Given the description of an element on the screen output the (x, y) to click on. 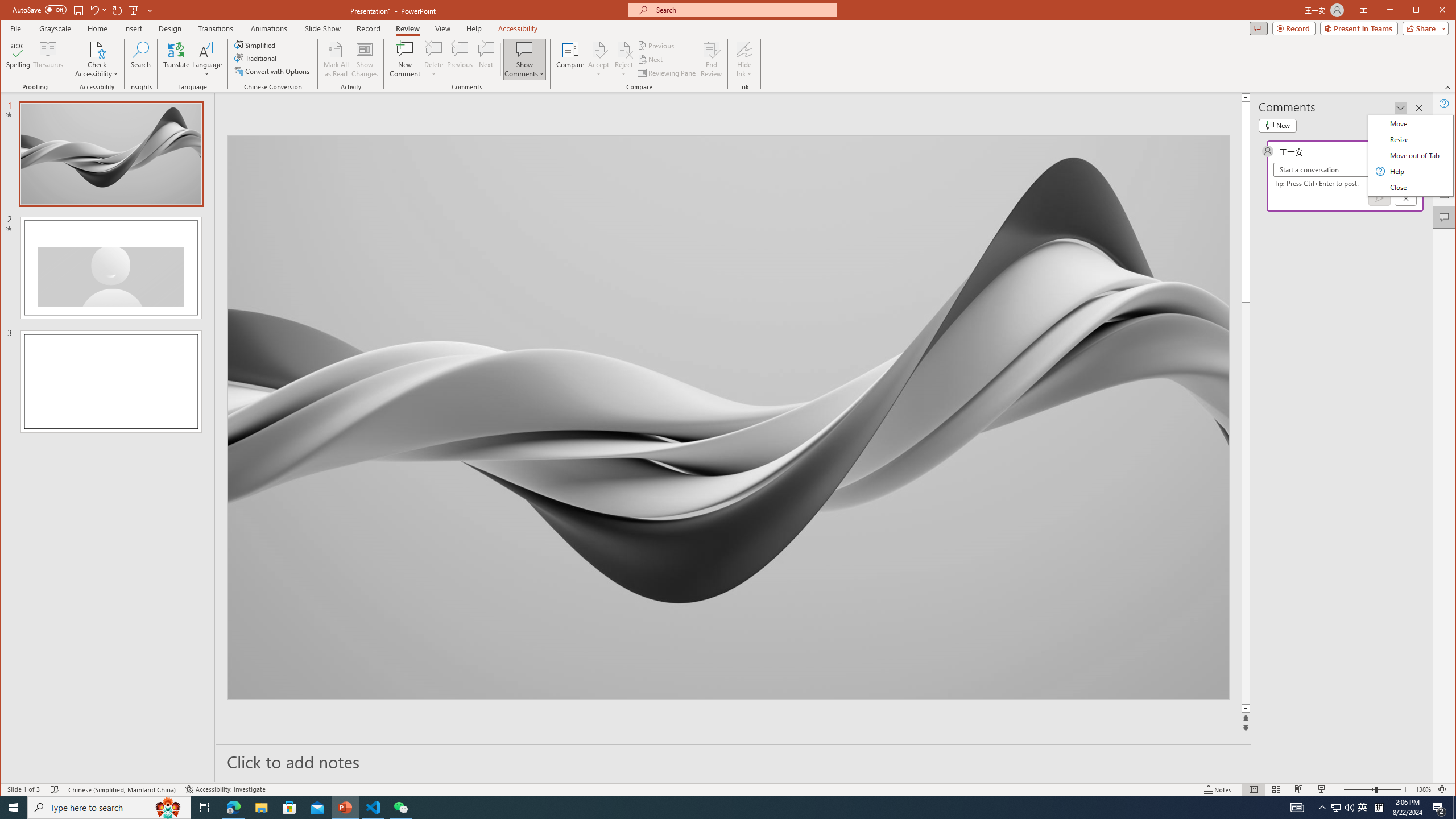
Hide Ink (744, 59)
Language (207, 59)
Q2790: 100% (1349, 807)
Notes  (1217, 789)
Convert with Options... (272, 70)
Comments (1258, 28)
Record (368, 28)
AutoSave (38, 9)
Task Pane Options (1400, 107)
AutomationID: 4105 (1297, 807)
Action Center, 2 new notifications (1439, 807)
Delete (433, 59)
Search highlights icon opens search home window (167, 807)
